Given the description of an element on the screen output the (x, y) to click on. 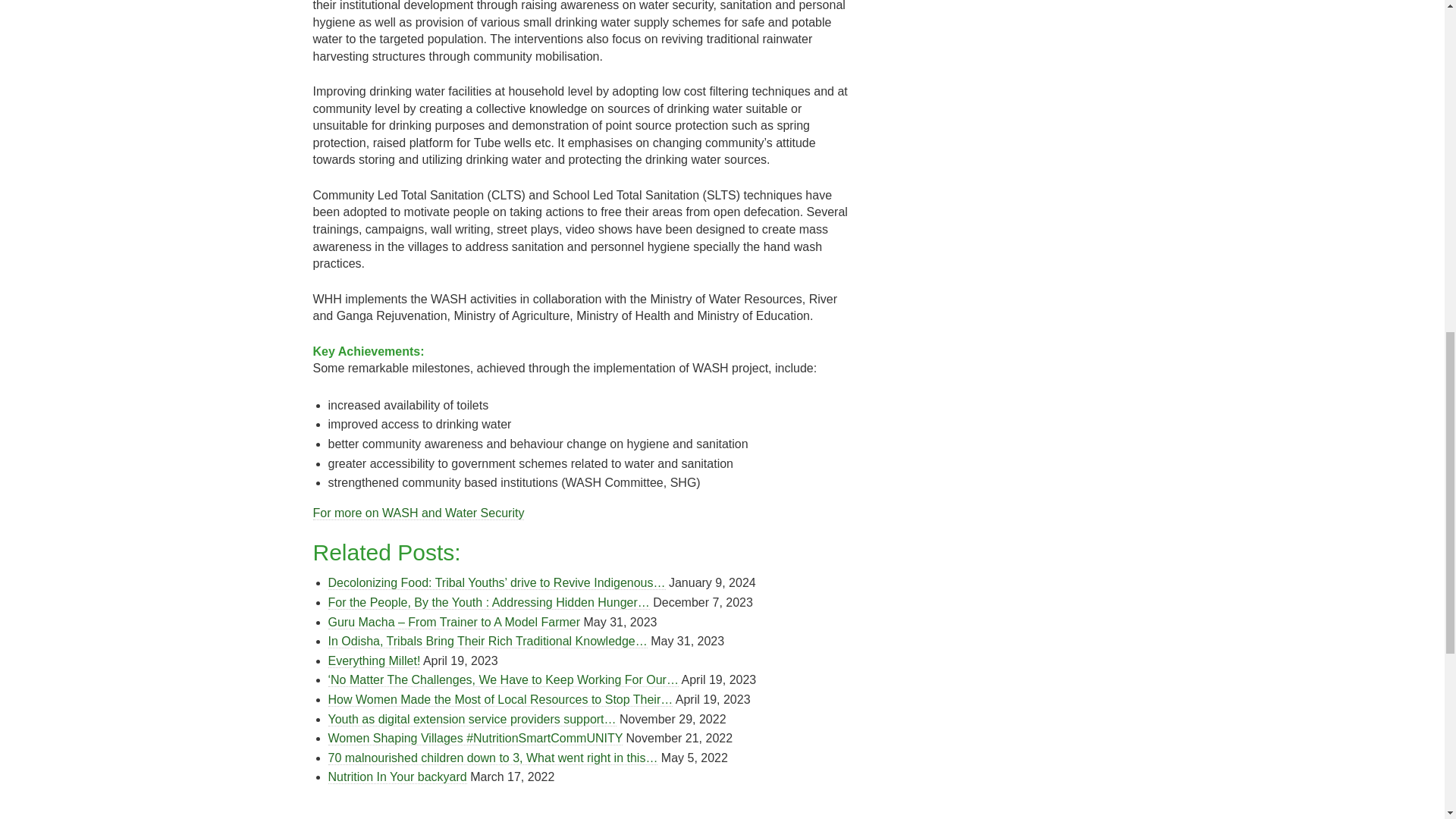
Everything Millet! (373, 661)
For more on WASH and Water Security (418, 513)
